Given the description of an element on the screen output the (x, y) to click on. 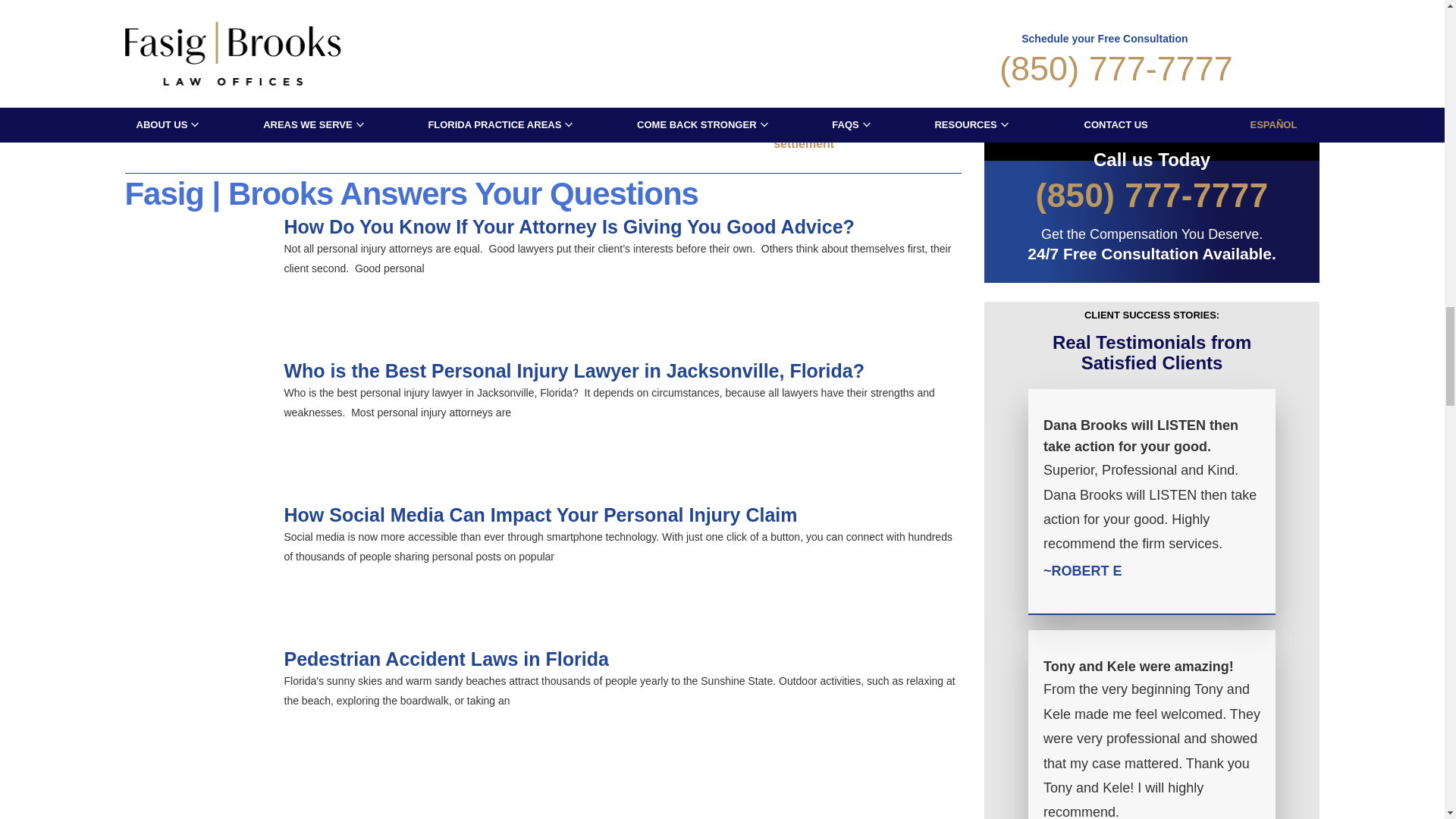
Pedestrian Accident Laws in Florida (195, 703)
How Social Media Can Impact Your Personal Injury Claim (195, 559)
Call to Tallahassee Office (1151, 195)
How Do You Know If Your Attorney Is Giving You Good Advice? (195, 271)
